Given the description of an element on the screen output the (x, y) to click on. 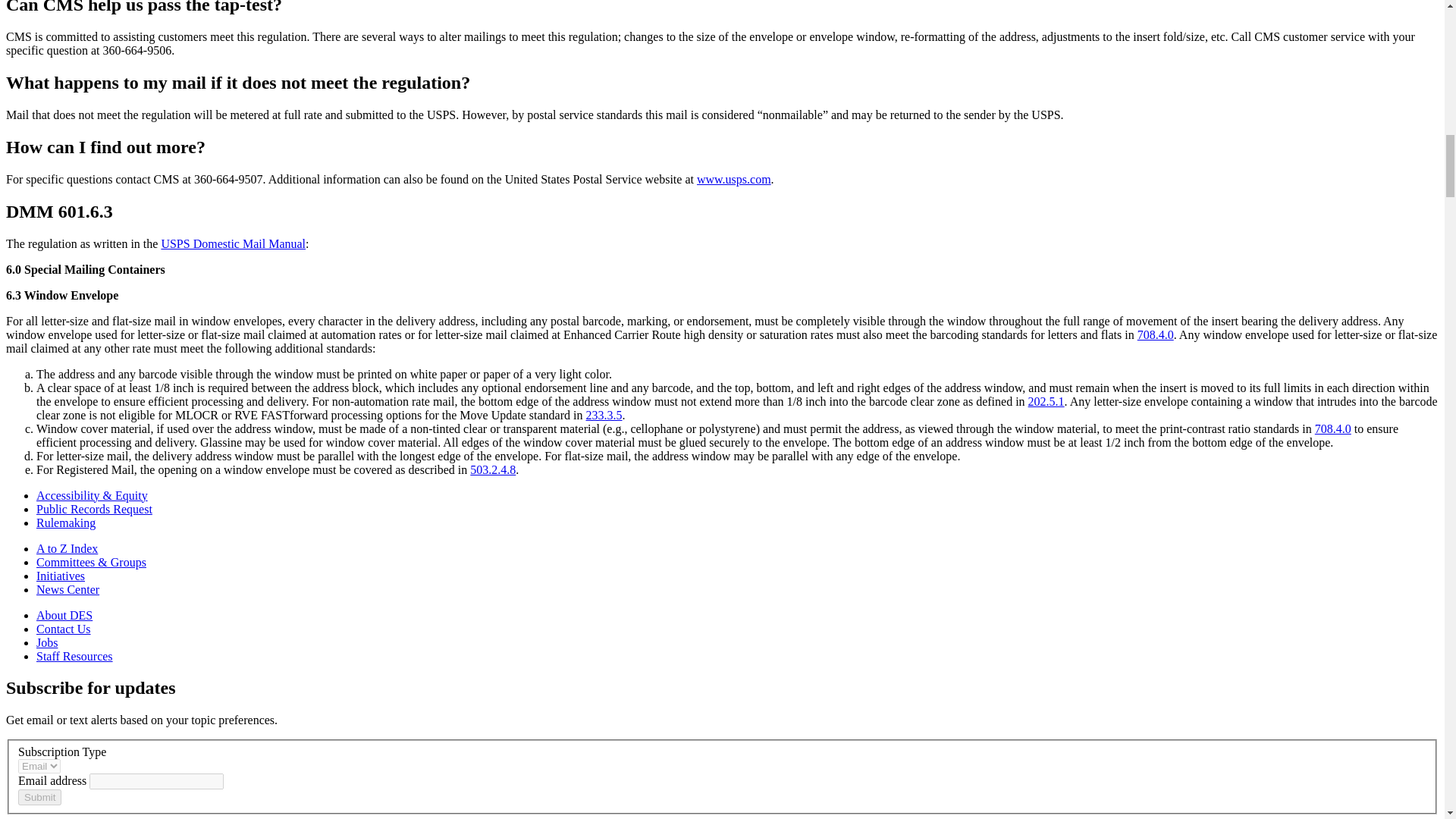
A to Z Index  (66, 548)
Public Records Request (94, 508)
Staff Resources (74, 656)
Rulemaking (66, 522)
Contact Us (63, 628)
News Center (67, 589)
About (64, 615)
Jobs at DES (47, 642)
Initiatives (60, 575)
